Given the description of an element on the screen output the (x, y) to click on. 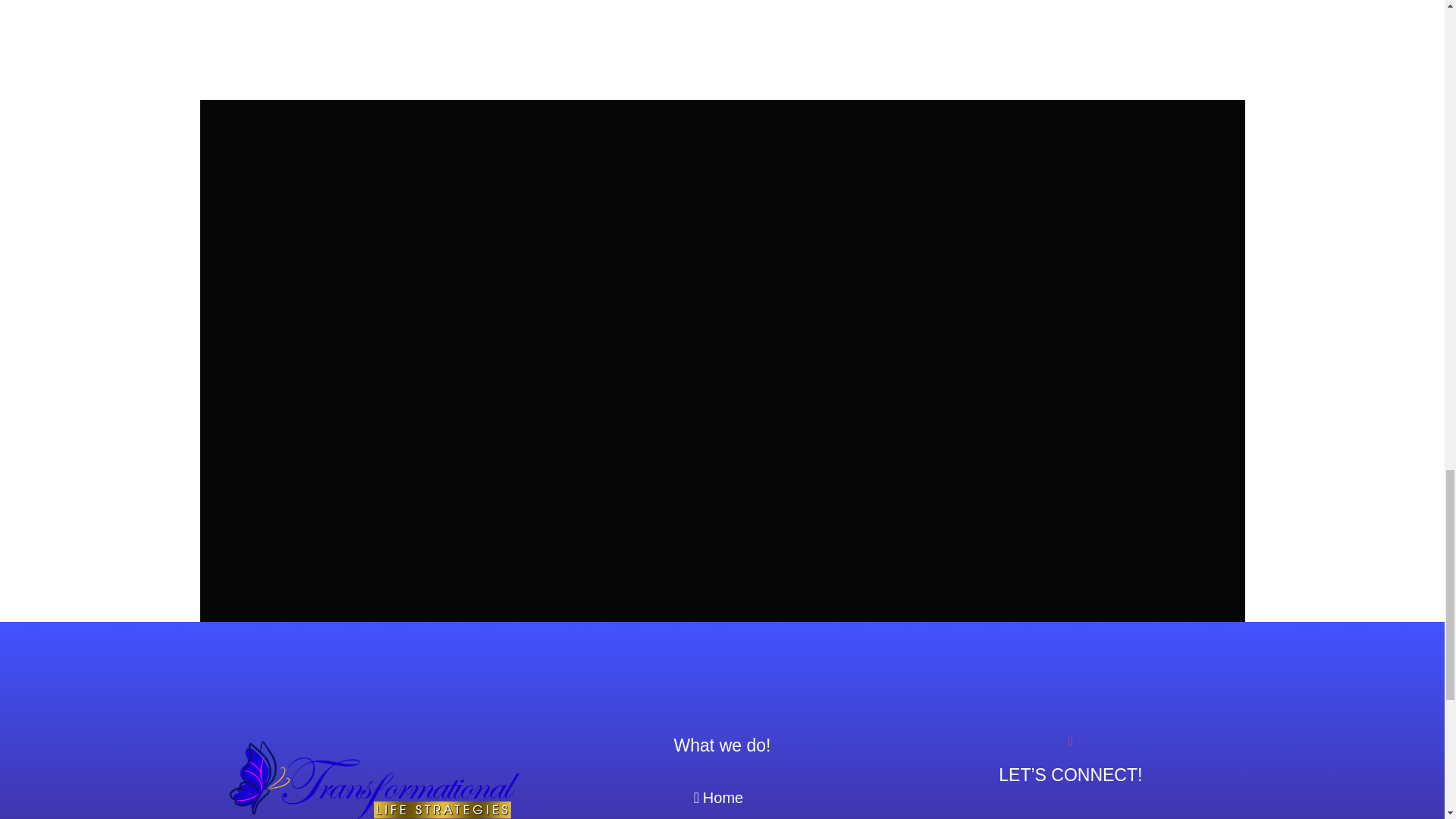
Lolita-Smith-200-Logo-gold-lettering-all-font-layers (373, 777)
